Given the description of an element on the screen output the (x, y) to click on. 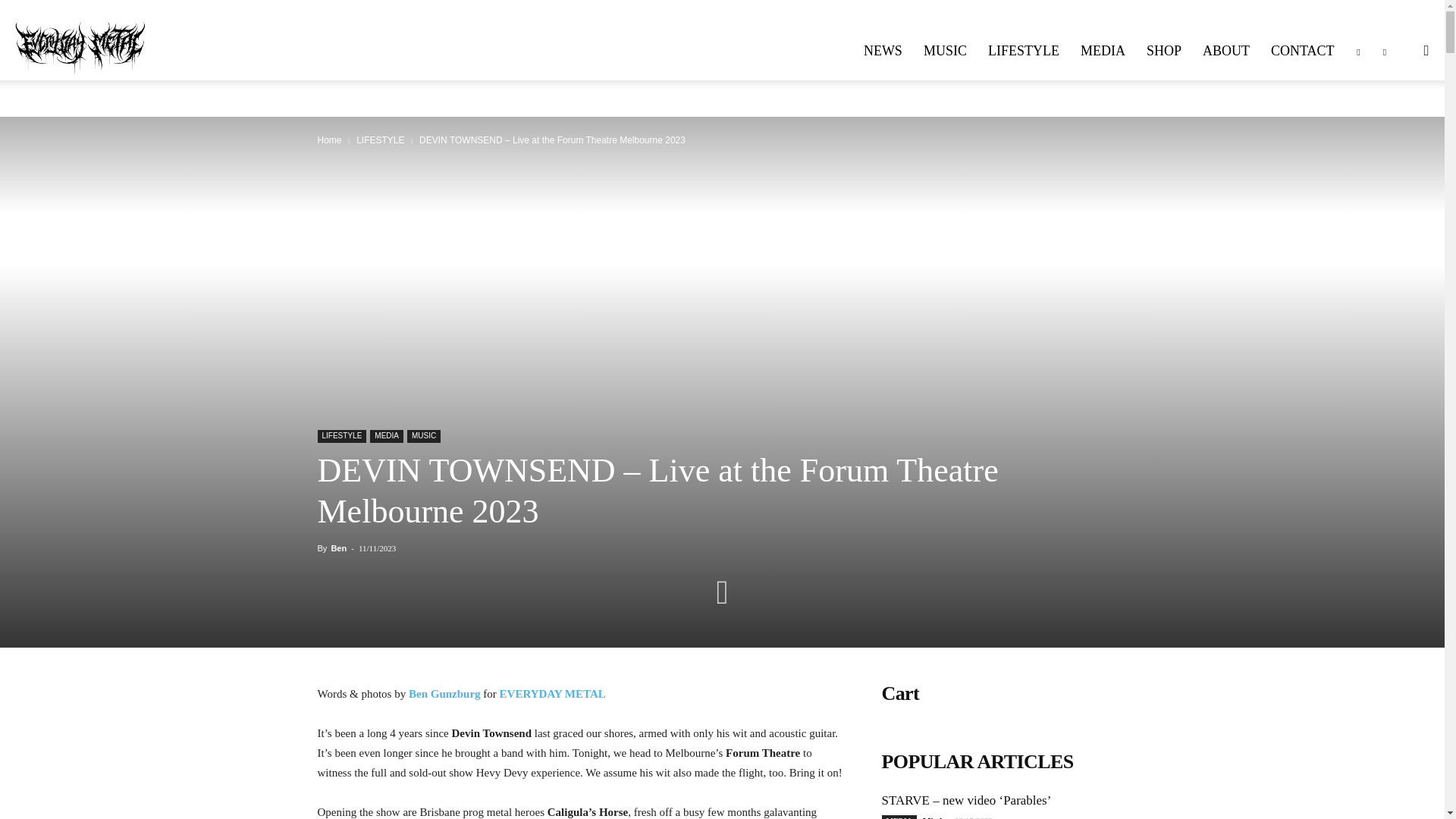
MEDIA (1102, 50)
Search (1395, 122)
SHOP (1163, 50)
Home (328, 140)
NEWS (882, 50)
View all posts in LIFESTYLE (380, 140)
CONTACT (1302, 50)
MUSIC (944, 50)
ABOUT (1226, 50)
Everyday Metal (79, 39)
